Given the description of an element on the screen output the (x, y) to click on. 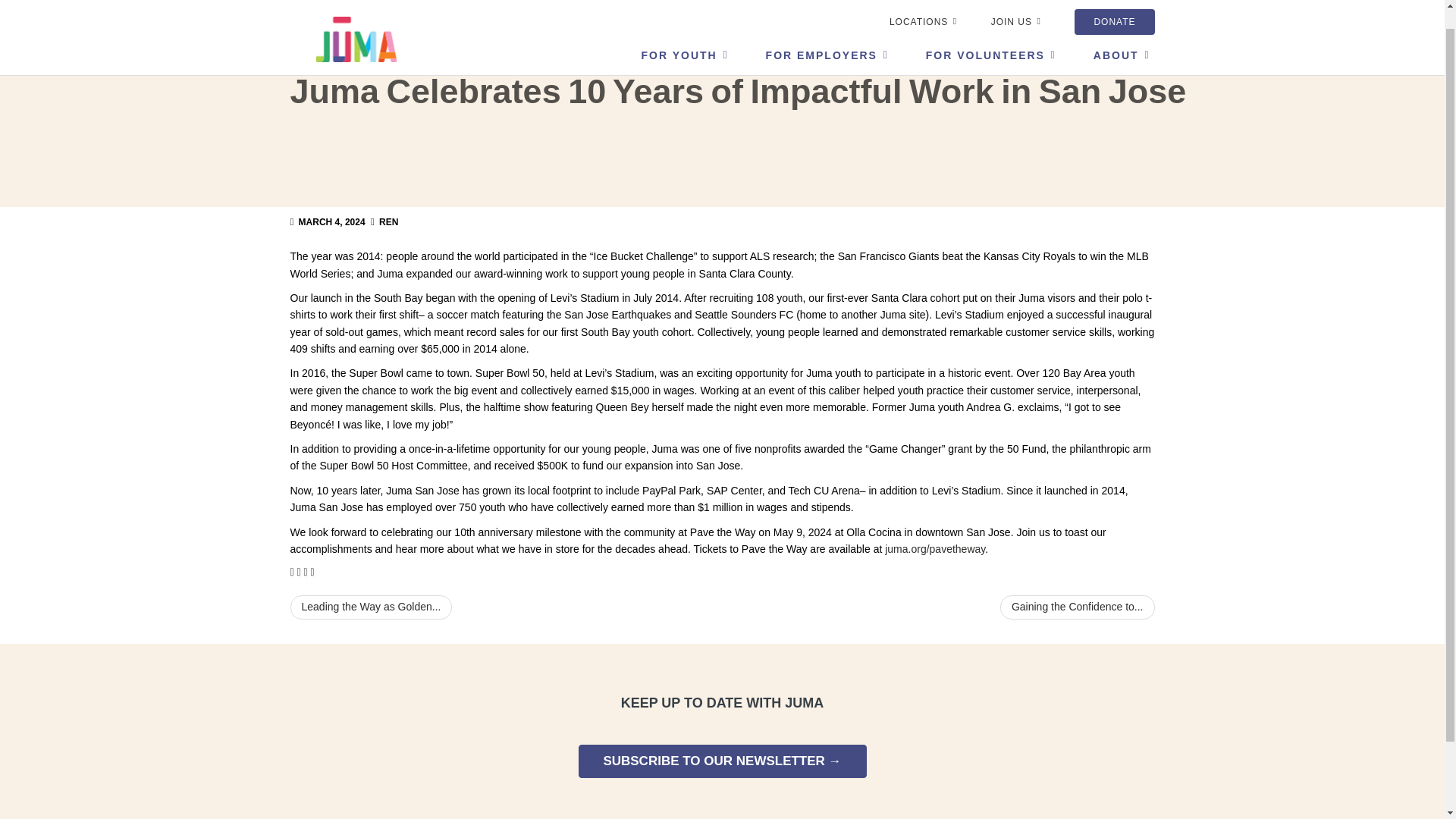
FOR VOLUNTEERS (987, 34)
DONATE (1114, 7)
For Youth (682, 34)
JOIN US (1014, 7)
FOR EMPLOYERS (824, 34)
ABOUT (1112, 34)
Locations (921, 7)
LOCATIONS (921, 7)
Donate (1114, 7)
FOR YOUTH (682, 34)
